Given the description of an element on the screen output the (x, y) to click on. 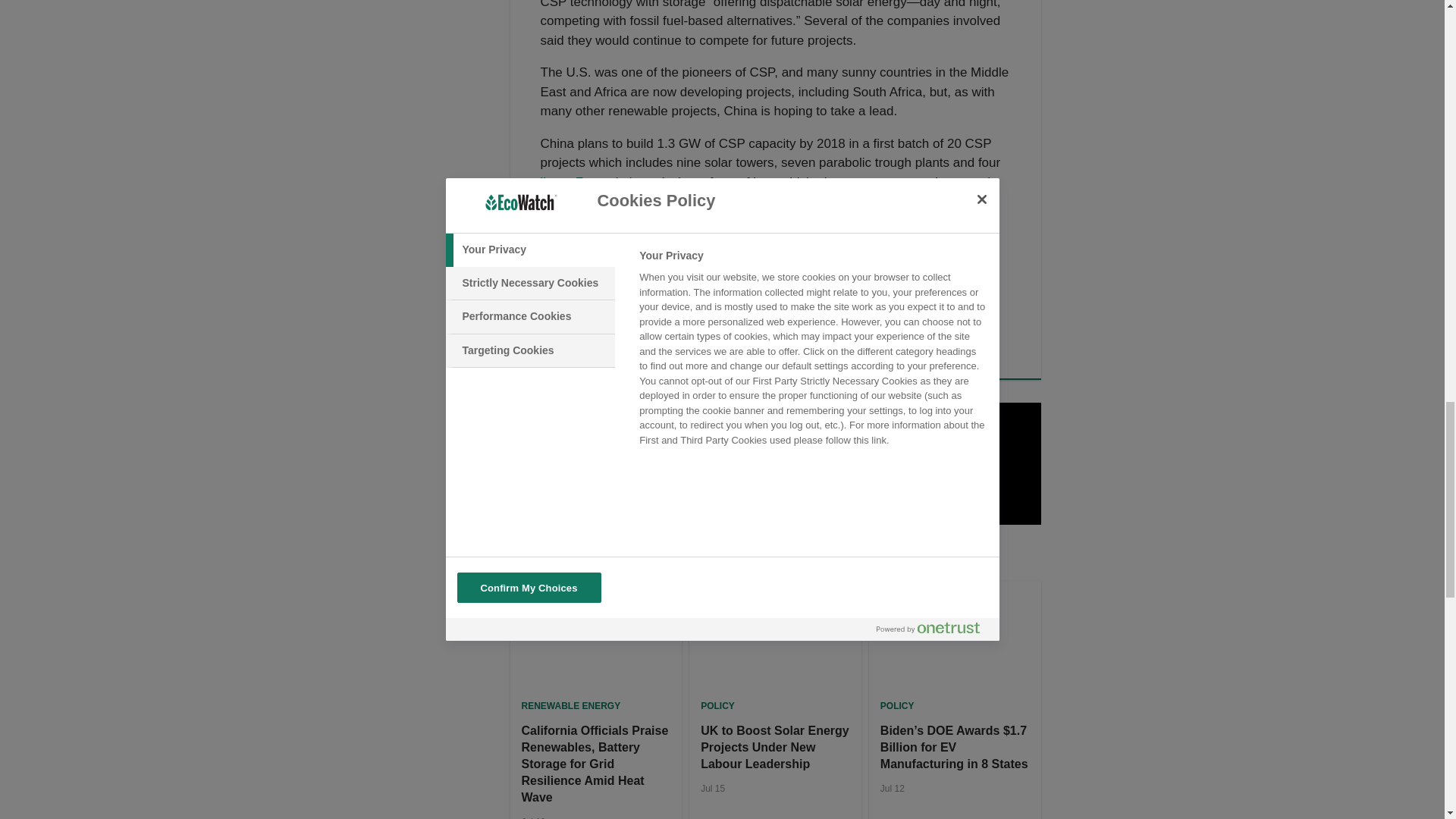
Subscribe (928, 474)
